Given the description of an element on the screen output the (x, y) to click on. 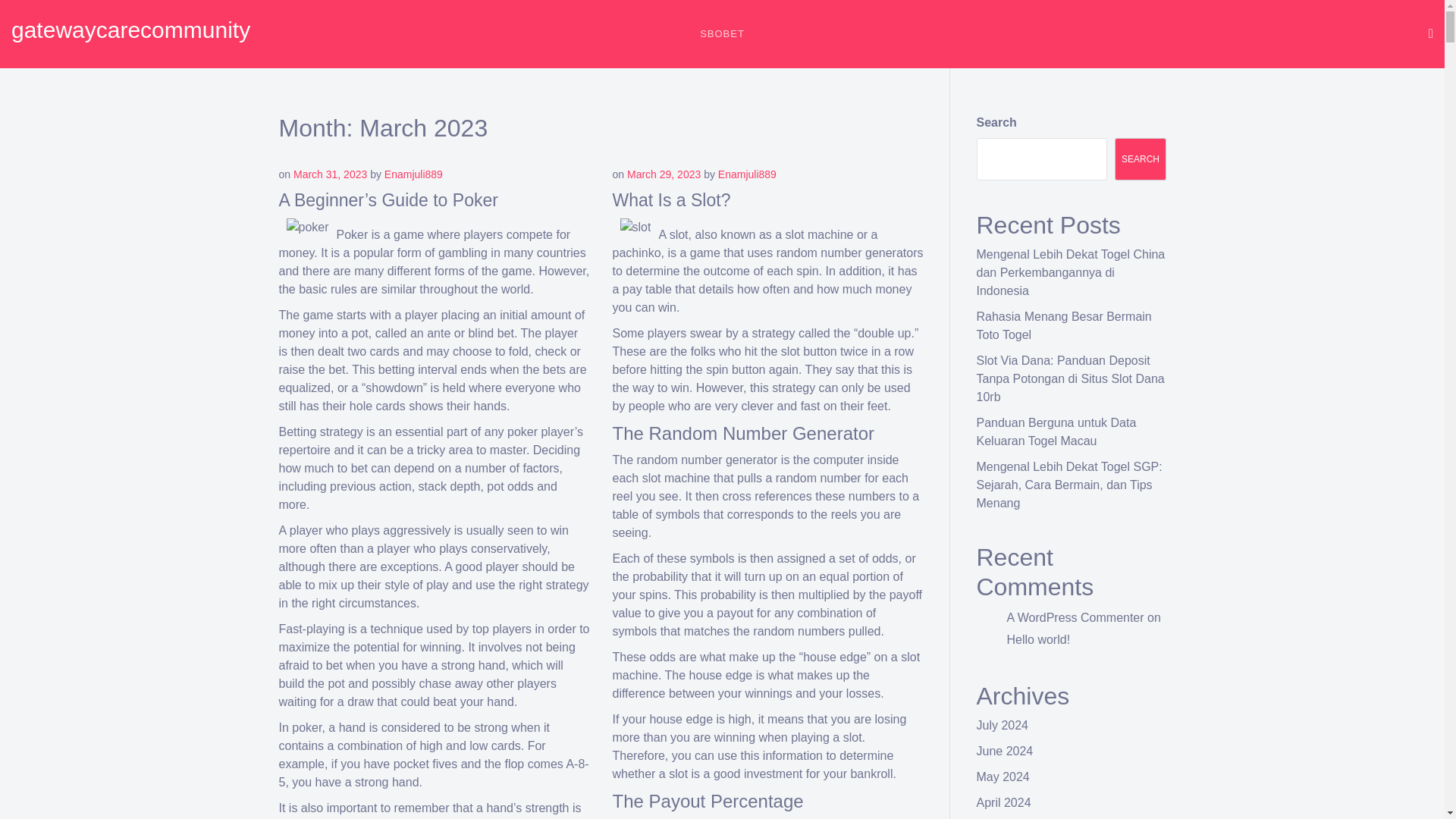
Enamjuli889 (746, 174)
SBOBET (721, 33)
March 31, 2023 (330, 174)
Enamjuli889 (413, 174)
gatewaycarecommunity (130, 29)
What Is a Slot? (671, 199)
March 29, 2023 (663, 174)
